Given the description of an element on the screen output the (x, y) to click on. 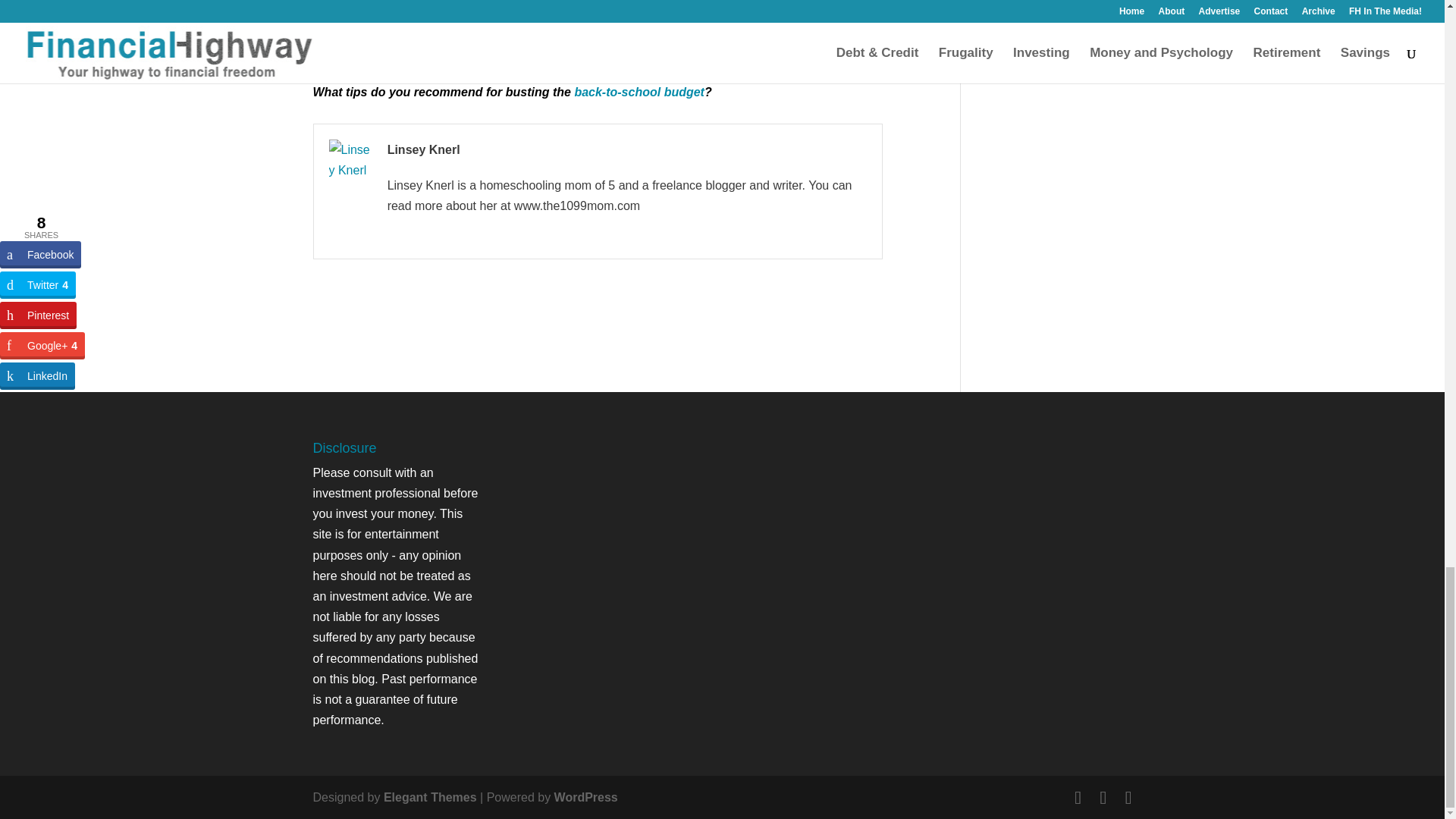
Elegant Themes (430, 797)
WordPress (585, 797)
Premium WordPress Themes (430, 797)
back-to-school budget (638, 91)
